Given the description of an element on the screen output the (x, y) to click on. 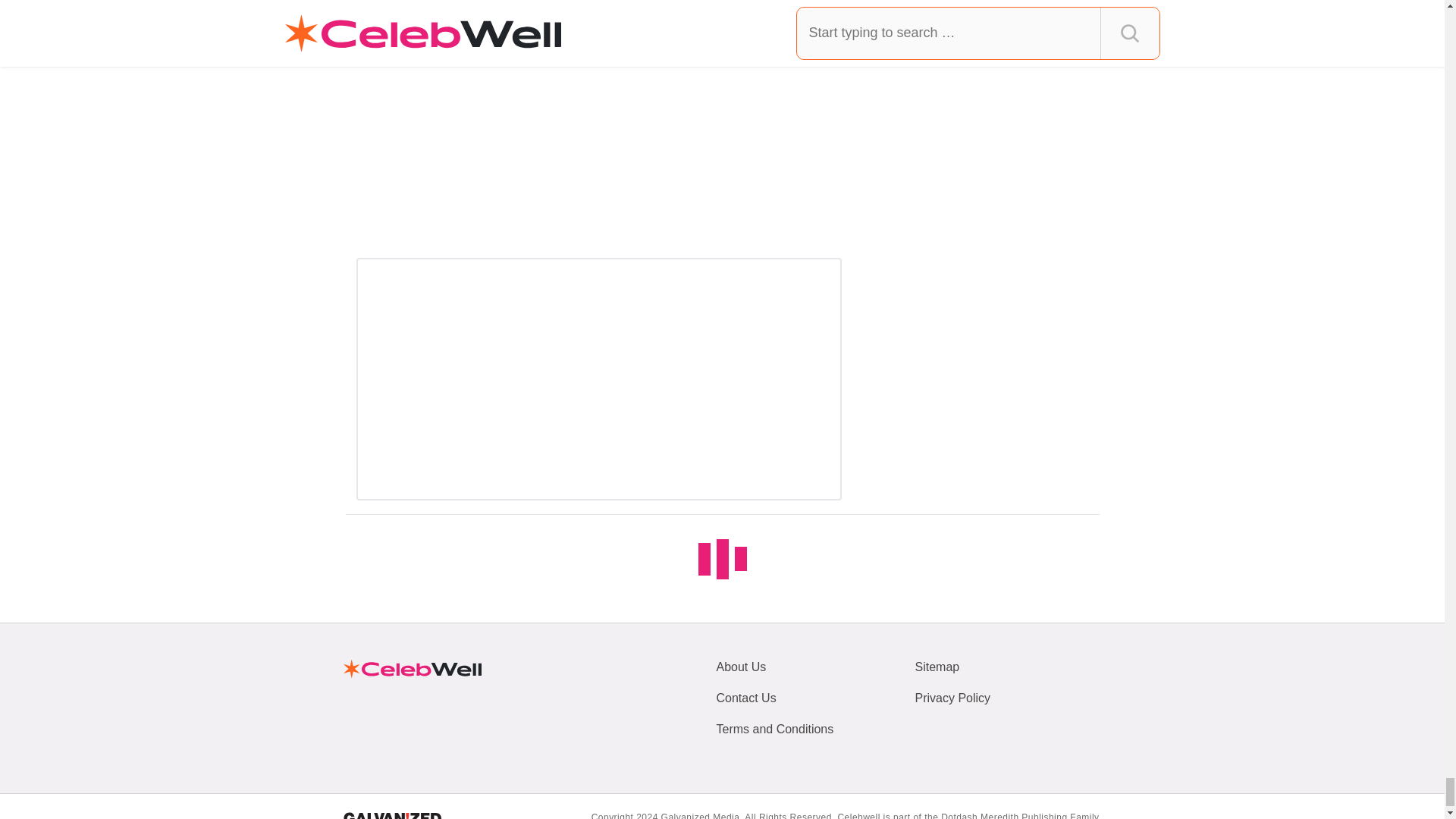
Galvanized Media Logo (391, 815)
Homepage of Celebwell (411, 668)
